Given the description of an element on the screen output the (x, y) to click on. 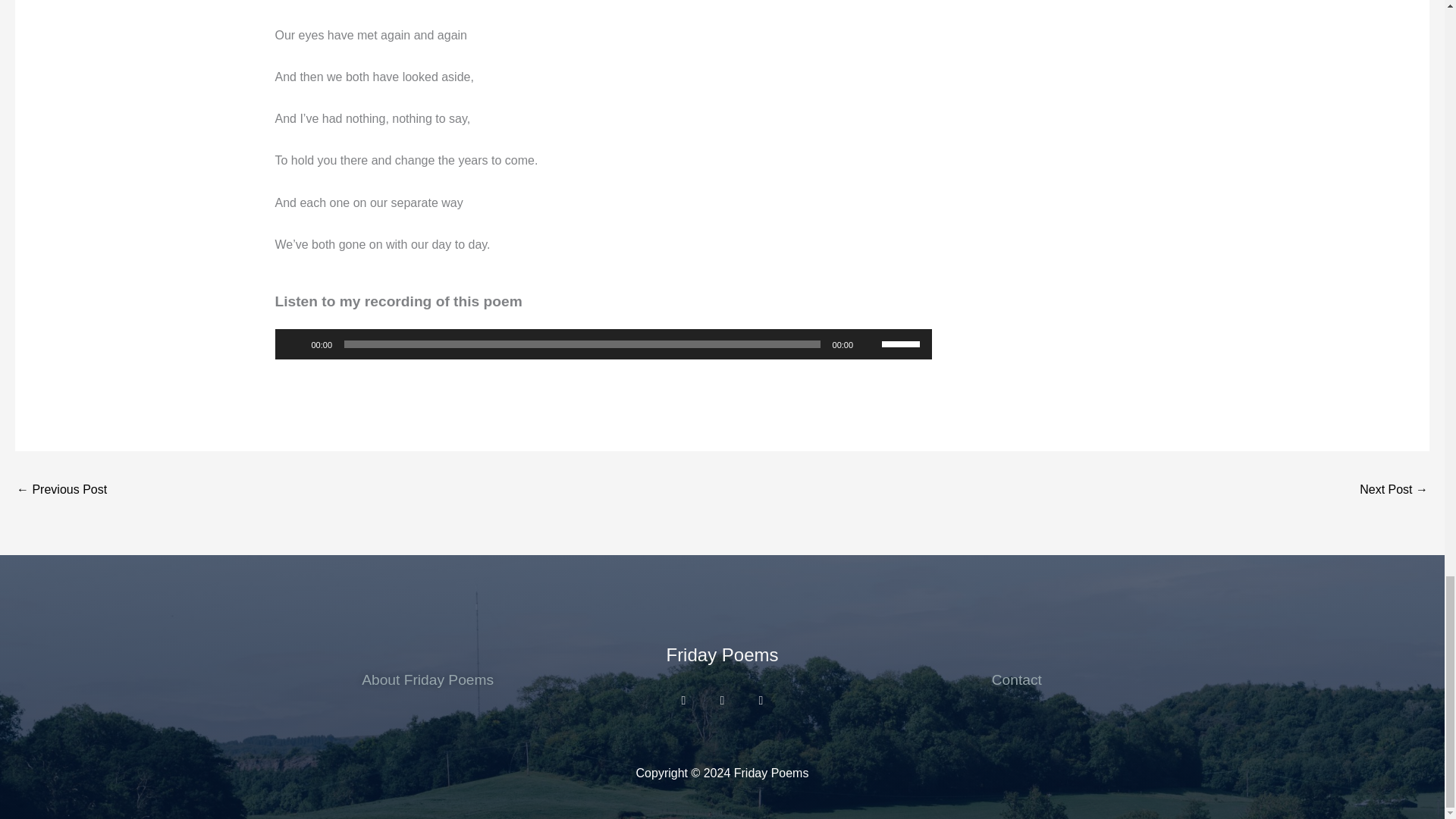
Instagram (683, 700)
Friday Poems (721, 654)
About Friday Poems (427, 679)
Facebook-f (760, 700)
Contact (1016, 679)
Mute (869, 344)
Twitter (721, 700)
Play (293, 344)
The Deserted Village (1393, 490)
